Given the description of an element on the screen output the (x, y) to click on. 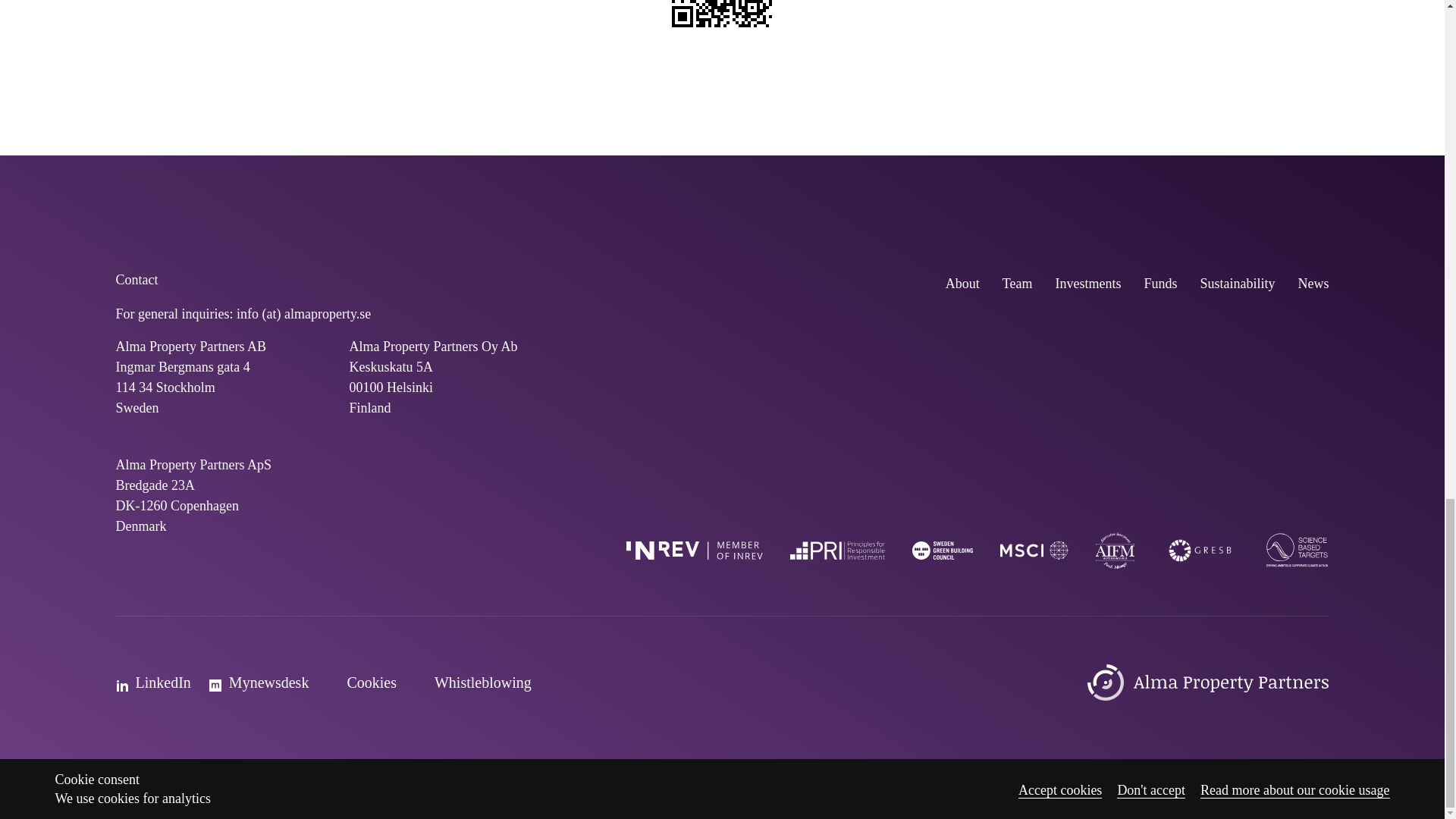
Investments (1087, 283)
Whistleblowing (472, 682)
Sustainability (1237, 283)
Cookies (361, 682)
About (961, 283)
LinkedIn (153, 682)
News (1312, 283)
Mynewsdesk (258, 682)
Funds (1159, 283)
Team (1017, 283)
